Given the description of an element on the screen output the (x, y) to click on. 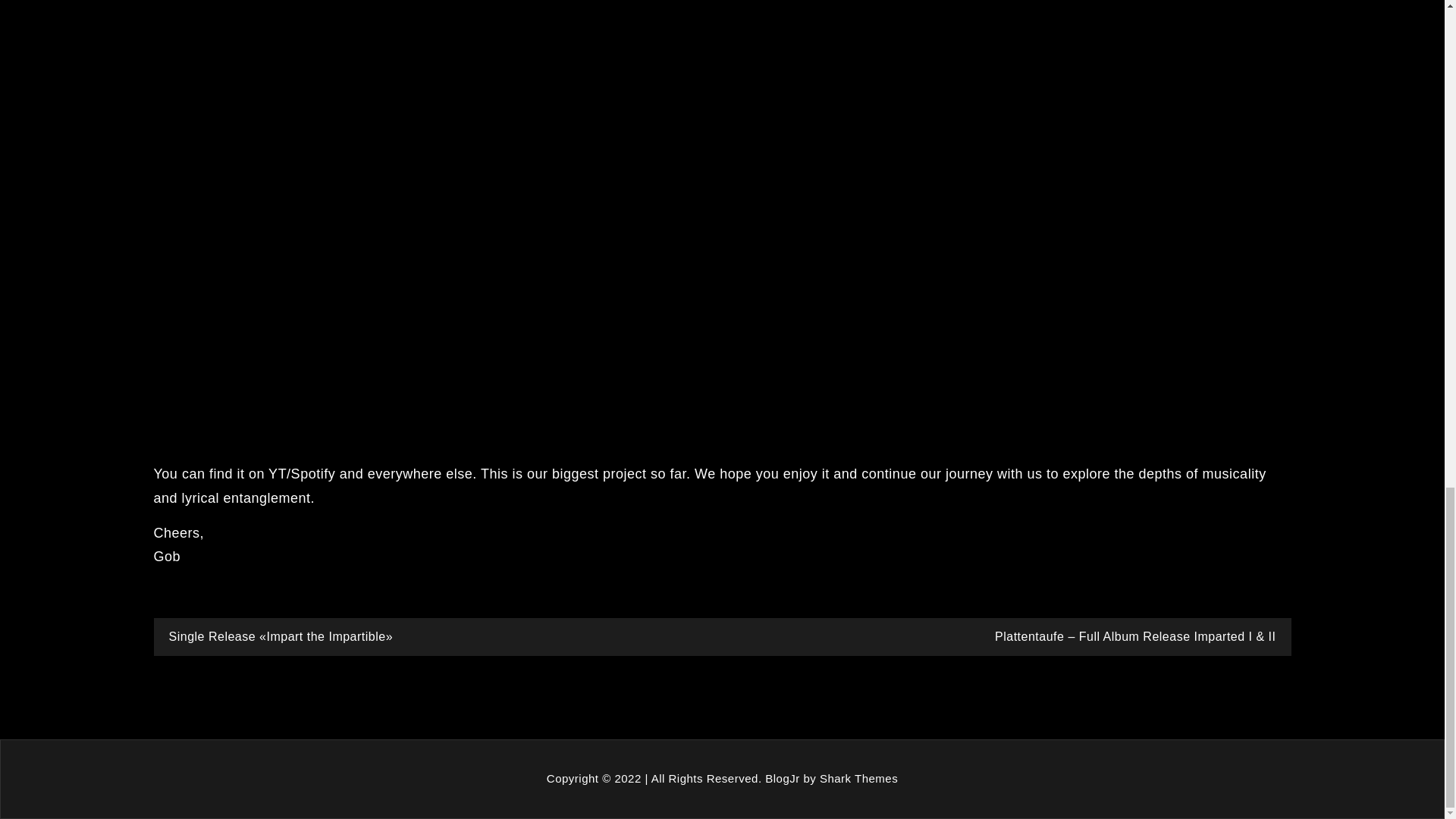
Shark Themes (858, 778)
